Given the description of an element on the screen output the (x, y) to click on. 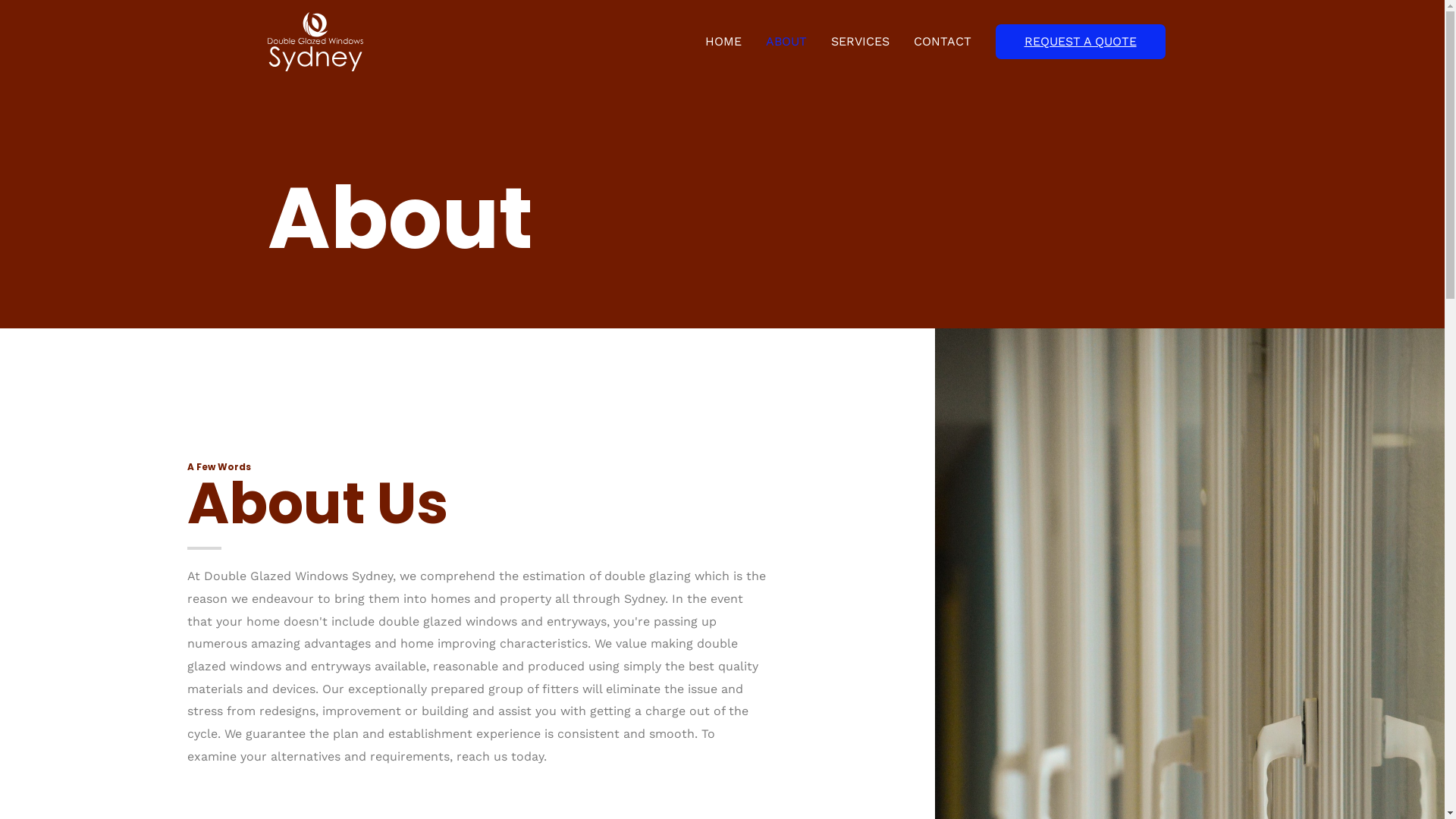
HOME Element type: text (723, 41)
CONTACT Element type: text (941, 41)
SERVICES Element type: text (860, 41)
ABOUT Element type: text (786, 41)
REQUEST A QUOTE Element type: text (1079, 41)
